Given the description of an element on the screen output the (x, y) to click on. 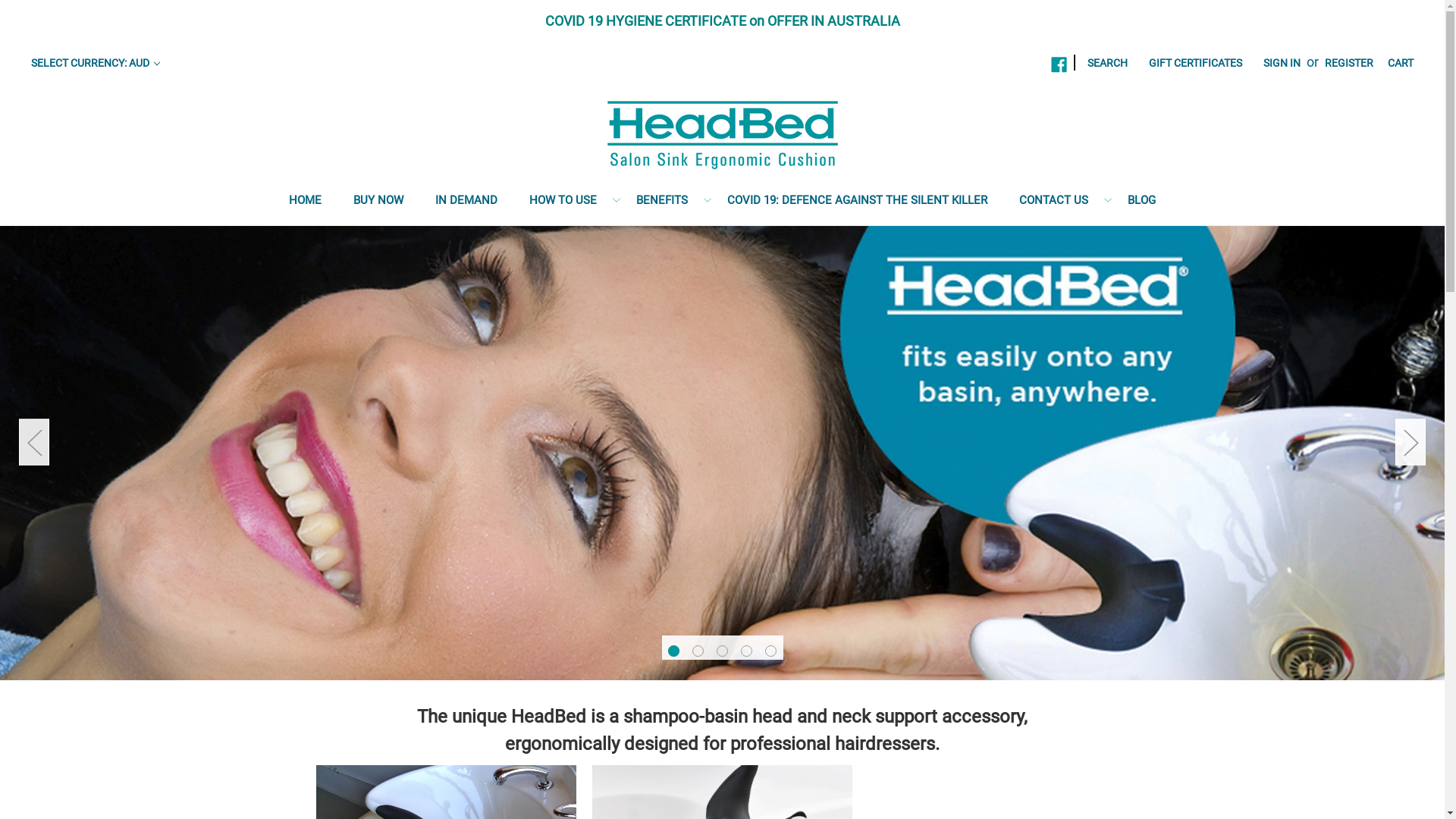
GIFT CERTIFICATES Element type: text (1195, 62)
3 Element type: text (722, 650)
SIGN IN Element type: text (1281, 62)
BUY NOW Element type: text (378, 203)
HeadBed International Element type: hover (721, 133)
Next Element type: text (1410, 441)
HOW TO USE Element type: text (562, 203)
COVID 19: DEFENCE AGAINST THE SILENT KILLER Element type: text (857, 203)
BLOG Element type: text (1141, 203)
REGISTER Element type: text (1348, 62)
5 Element type: text (770, 650)
HOME Element type: text (305, 203)
SELECT CURRENCY: AUD Element type: text (95, 62)
2 Element type: text (697, 650)
CONTACT US Element type: text (1053, 203)
IN DEMAND Element type: text (466, 203)
SEARCH Element type: text (1107, 62)
4 Element type: text (746, 650)
CART Element type: text (1400, 62)
Previous Element type: text (33, 441)
BENEFITS Element type: text (661, 203)
1 Element type: text (673, 650)
